Given the description of an element on the screen output the (x, y) to click on. 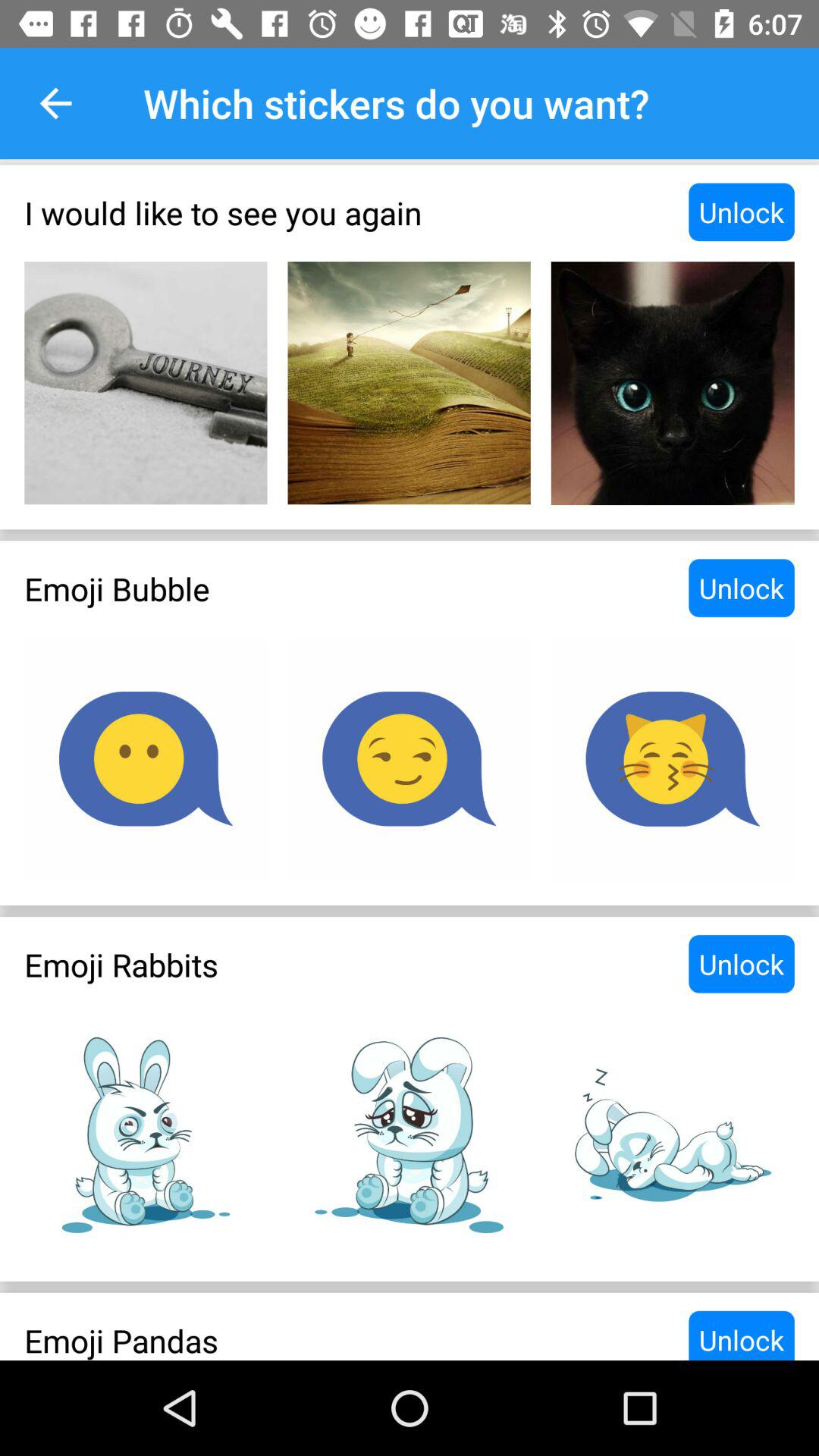
select the first emoji which is under emoji bubble (145, 758)
